Given the description of an element on the screen output the (x, y) to click on. 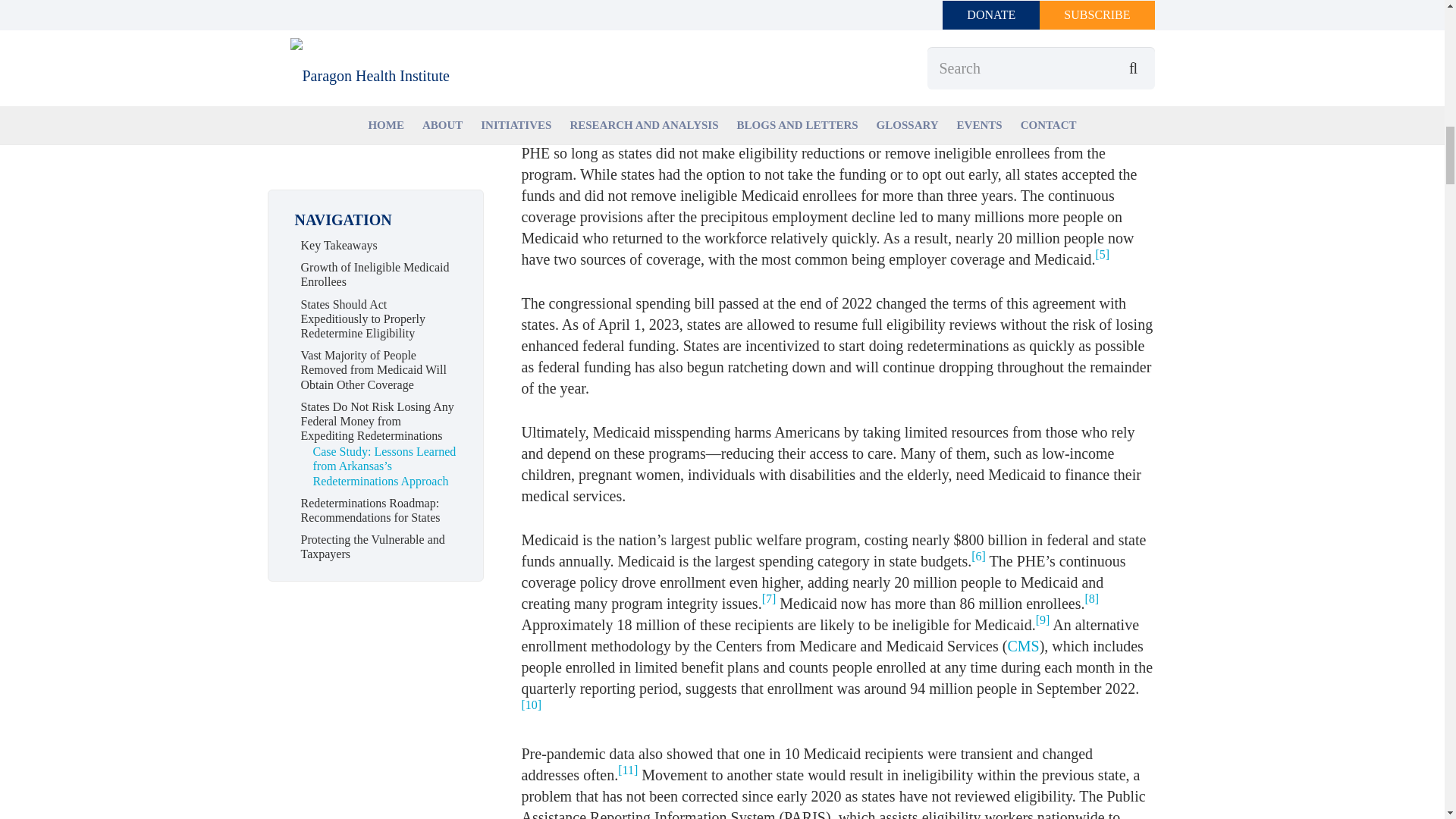
4 (1077, 40)
5 (1101, 254)
11 (627, 769)
8 (1091, 598)
6 (978, 555)
9 (1042, 619)
7 (768, 598)
3 (844, 2)
10 (531, 704)
